Given the description of an element on the screen output the (x, y) to click on. 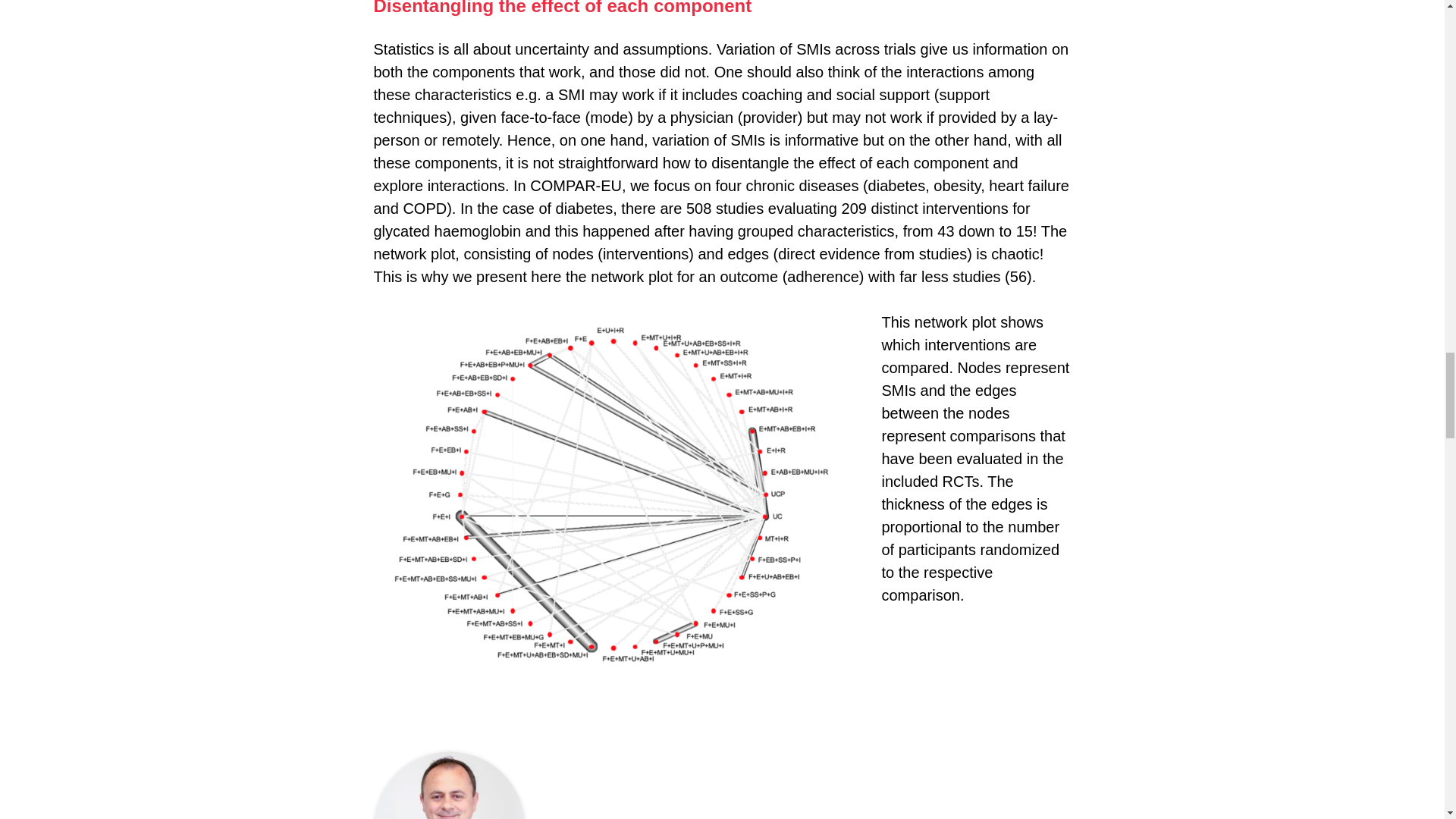
Dimitris (448, 785)
